Given the description of an element on the screen output the (x, y) to click on. 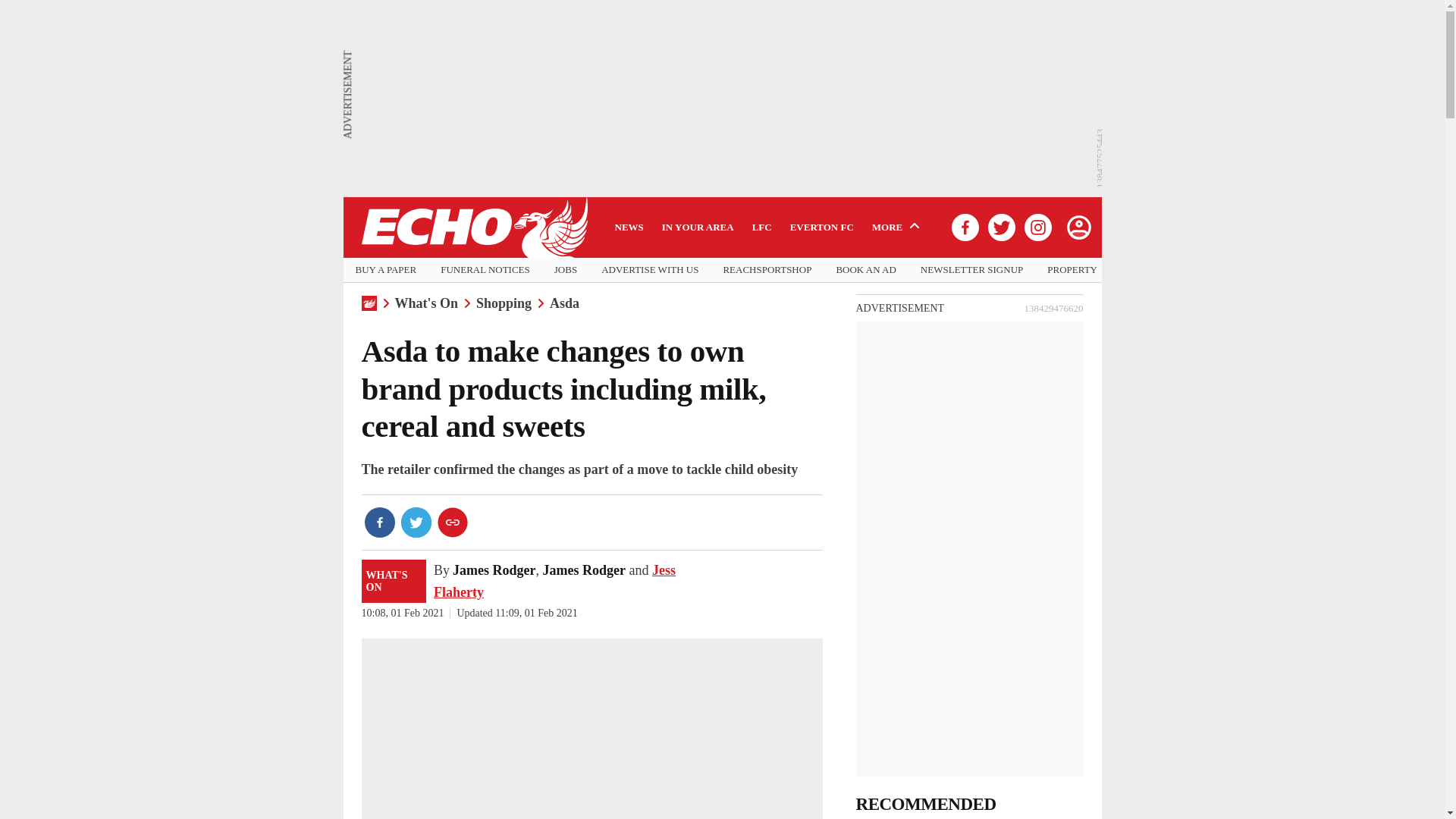
WHAT'S ON (393, 581)
ADVERTISE WITH US (649, 270)
FUNERAL NOTICES (485, 270)
copy link (451, 521)
EVERTON FC (821, 227)
Shopping (503, 303)
BOOK AN AD (865, 270)
JOBS (565, 270)
NEWSLETTER SIGNUP (971, 270)
Asda (564, 303)
PROPERTY (1071, 270)
Jess Flaherty (554, 580)
What'S On (426, 303)
MORE (897, 227)
